Given the description of an element on the screen output the (x, y) to click on. 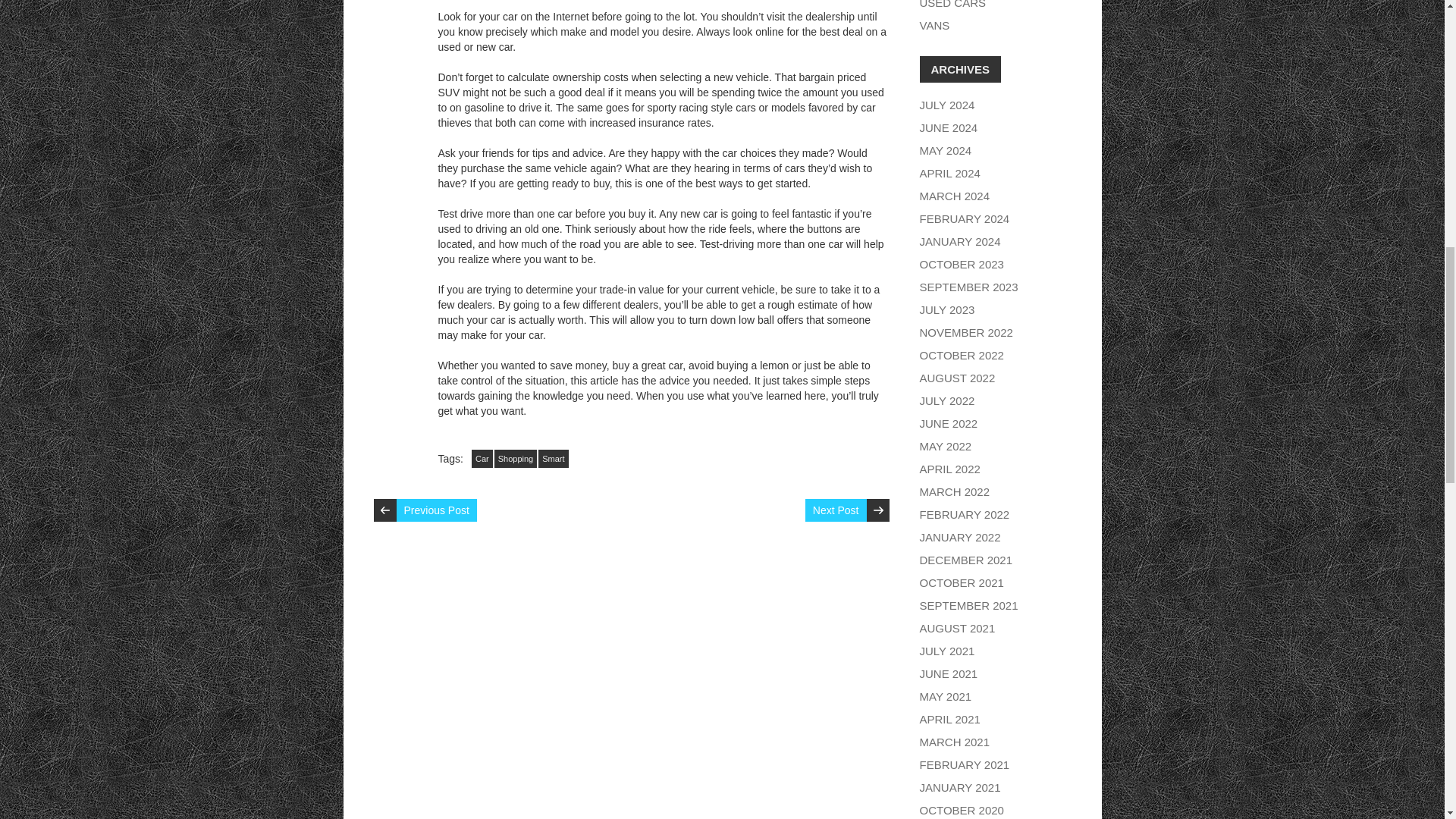
VANS (933, 24)
JUNE 2024 (947, 127)
JULY 2024 (946, 104)
APRIL 2024 (948, 173)
Car (482, 458)
MAY 2024 (944, 150)
Shopping (516, 458)
MARCH 2024 (954, 195)
USED CARS (951, 4)
Previous Post (436, 509)
